Given the description of an element on the screen output the (x, y) to click on. 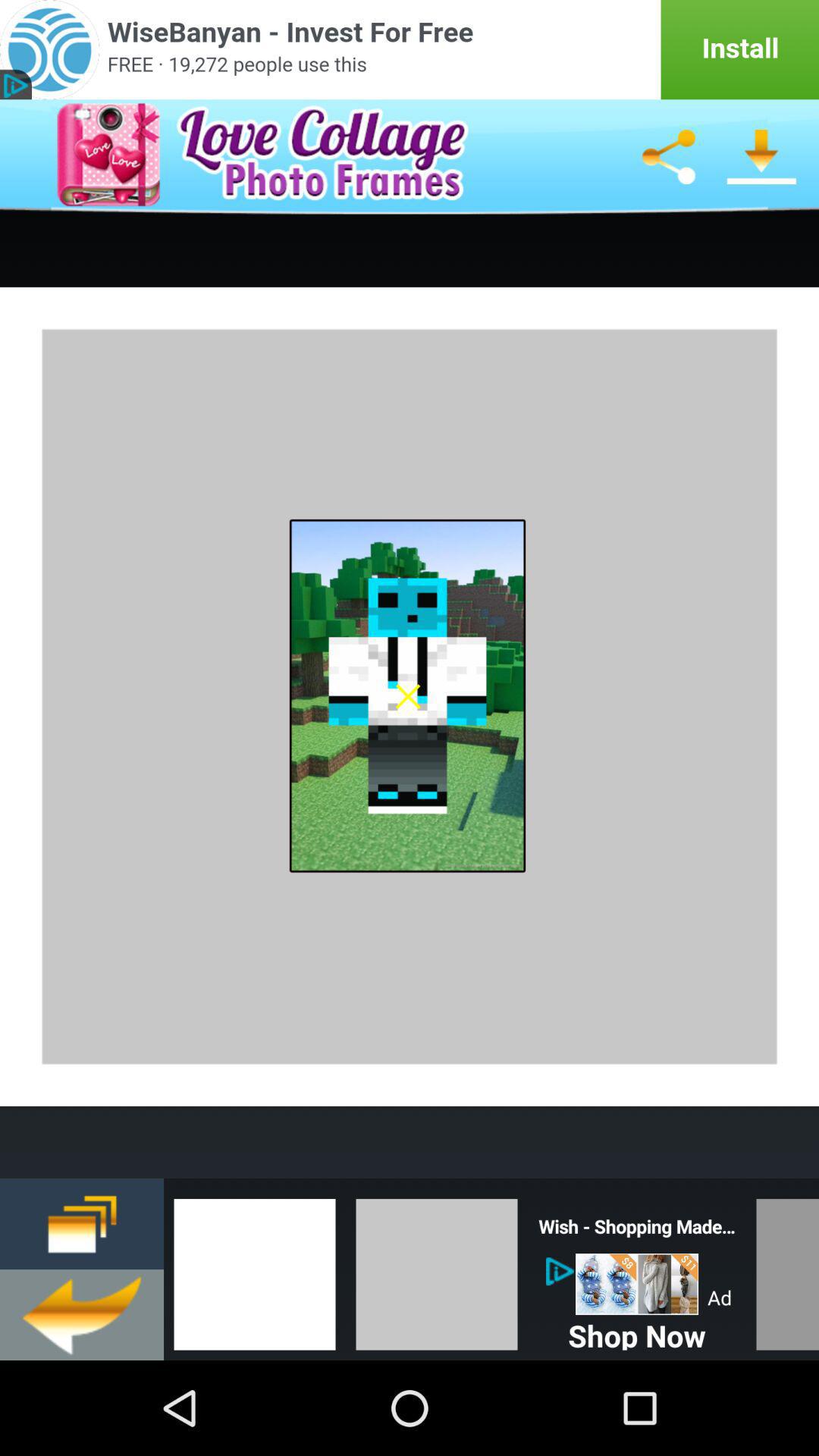
click the item above shop now item (636, 1283)
